Given the description of an element on the screen output the (x, y) to click on. 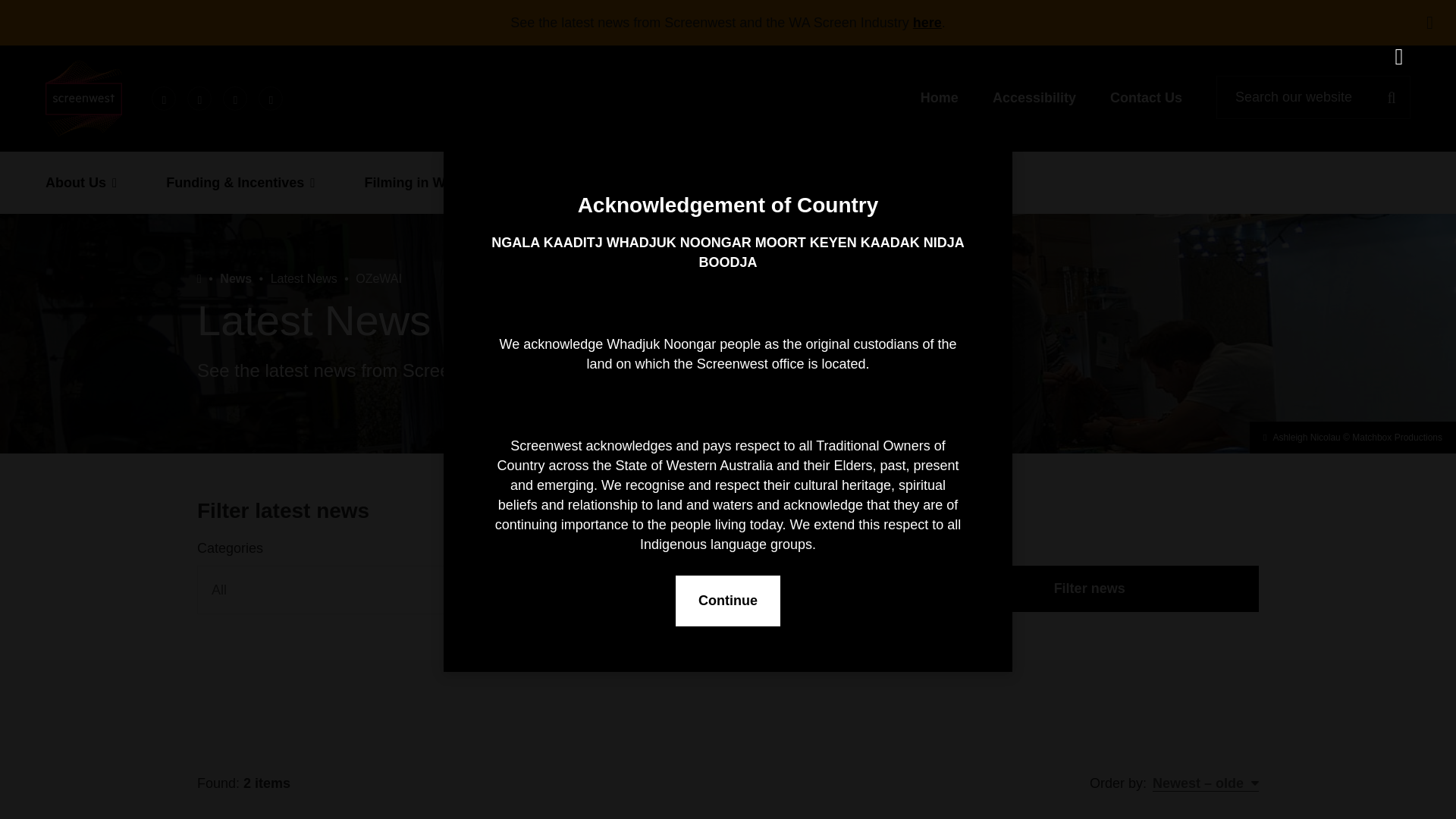
Filter news (1089, 588)
Home (939, 96)
Contact Us (1145, 96)
Go to News. (235, 278)
here (927, 22)
Screenwest (83, 97)
Accessibility (1033, 96)
